Given the description of an element on the screen output the (x, y) to click on. 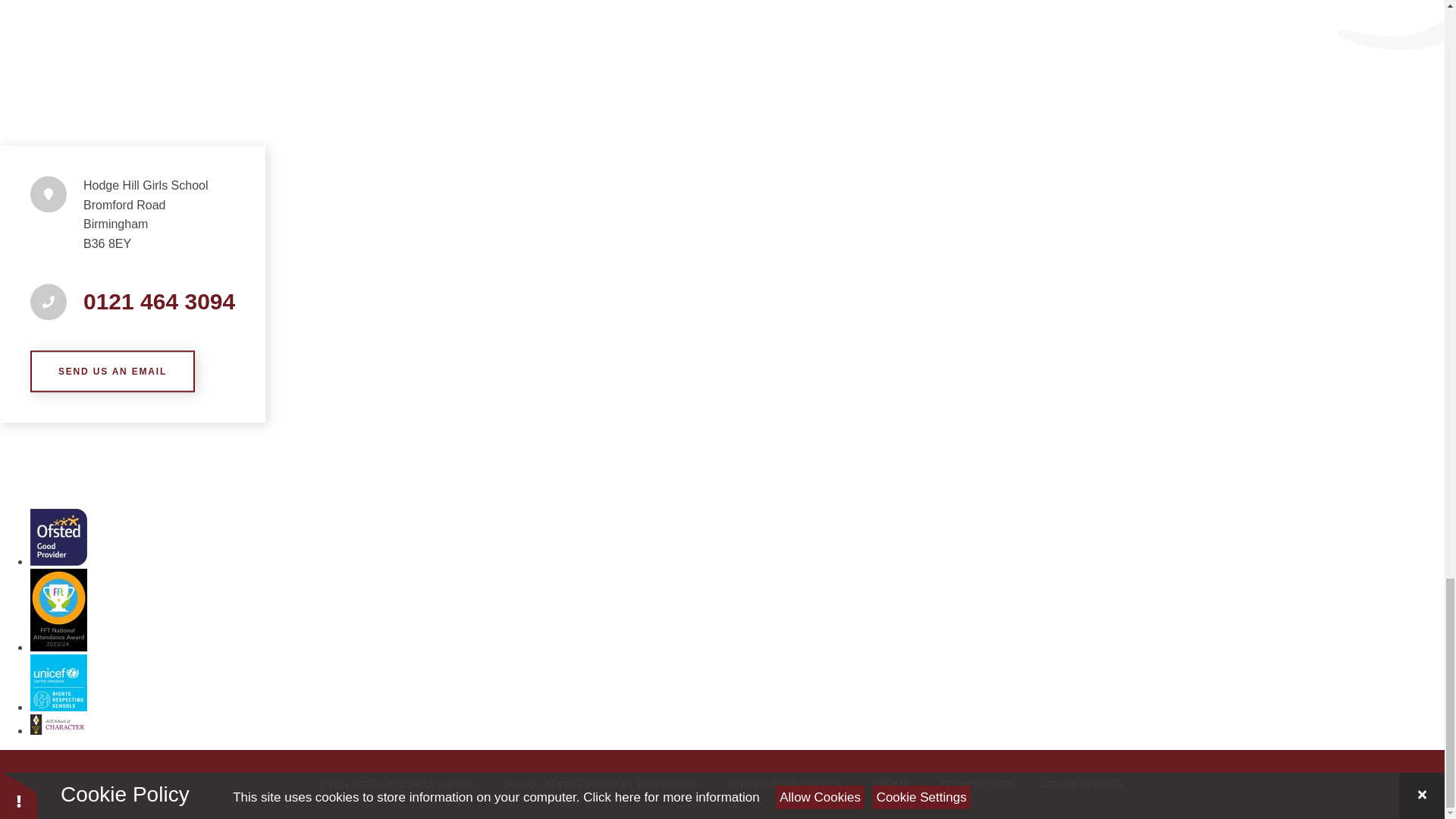
Cookie Settings (1083, 784)
